Given the description of an element on the screen output the (x, y) to click on. 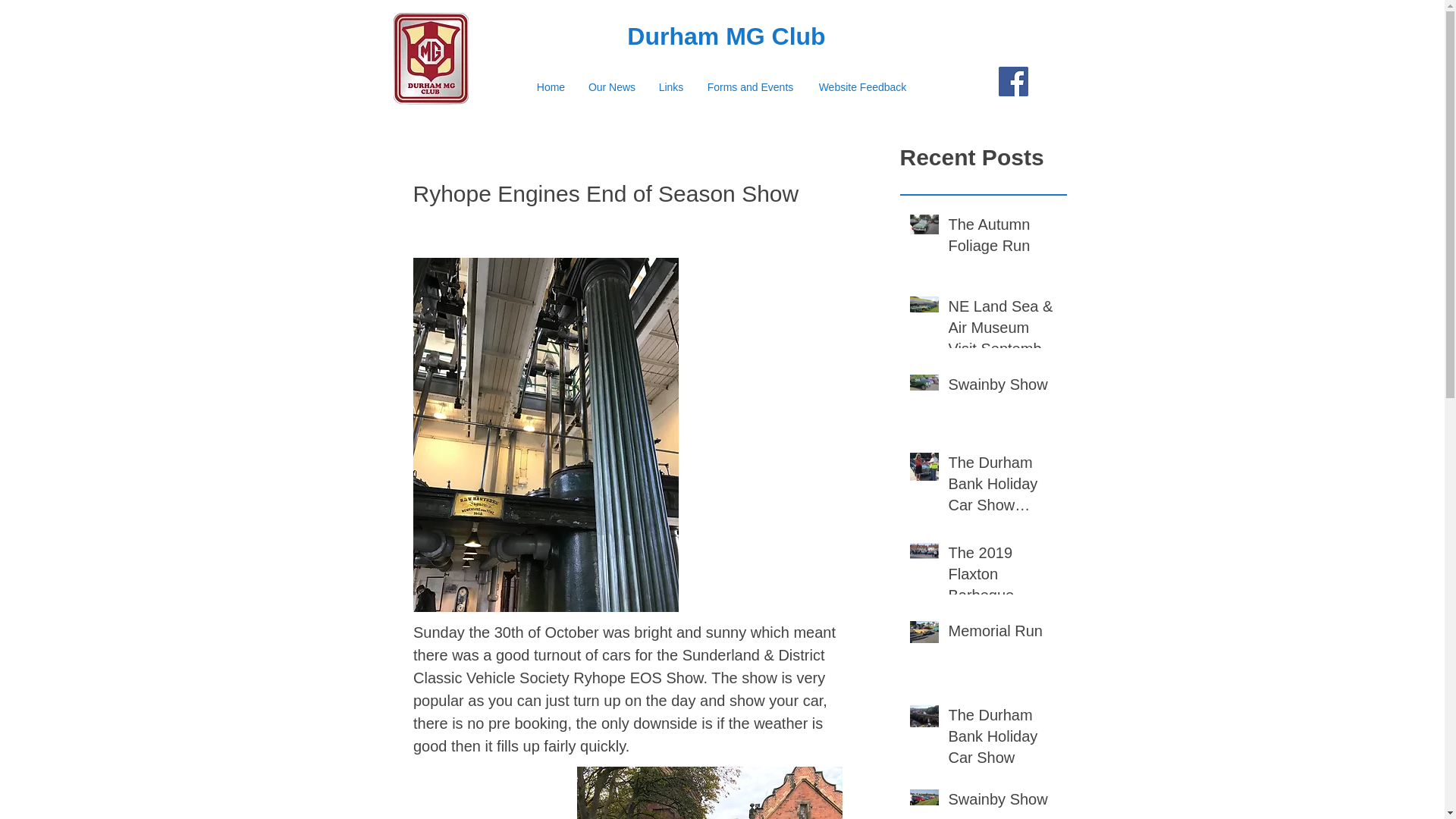
Website Feedback (861, 87)
The Durham Bank Holiday Car Show Sunday August 26th (1002, 486)
Home (550, 87)
Swainby Show (1002, 801)
The Durham Bank Holiday Car Show (1002, 738)
Links (671, 87)
Swainby Show (1002, 387)
Forms and Events (749, 87)
The Autumn Foliage Run (1002, 237)
Memorial Run (1002, 633)
